Given the description of an element on the screen output the (x, y) to click on. 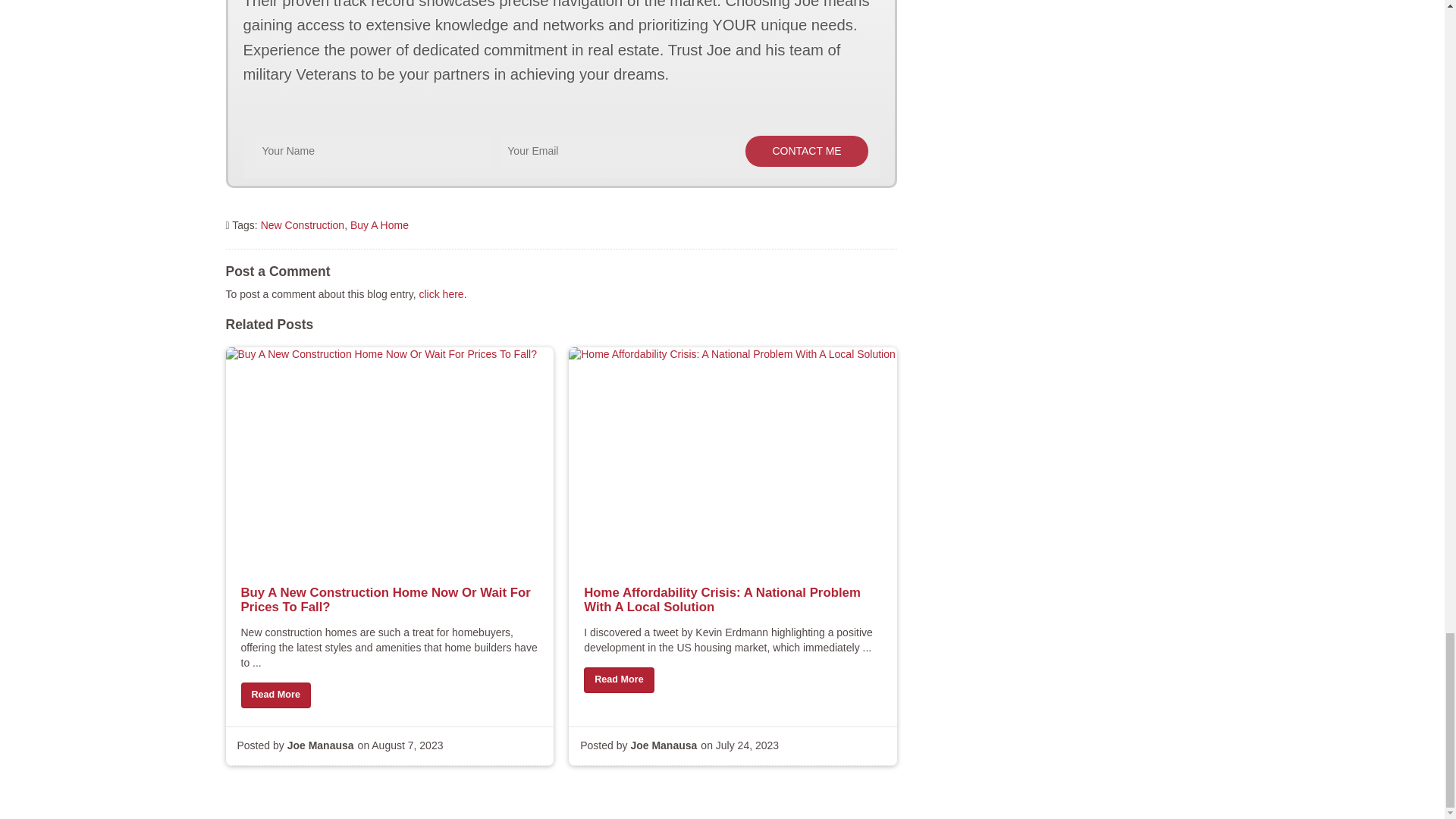
CONTACT ME (806, 151)
